Given the description of an element on the screen output the (x, y) to click on. 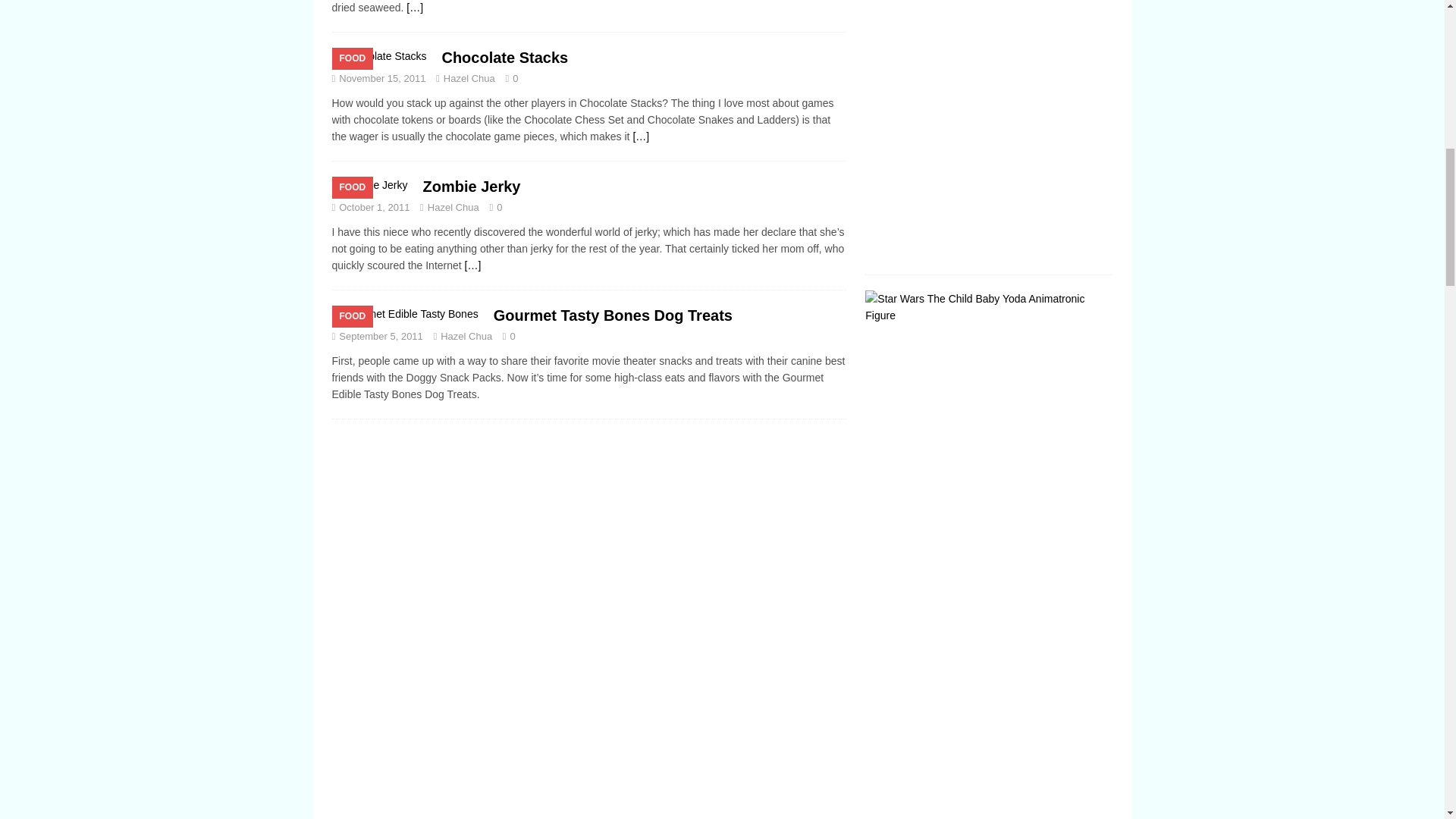
Chocolate Stacks (504, 57)
Edible Dried Zombie Skin (414, 7)
